Given the description of an element on the screen output the (x, y) to click on. 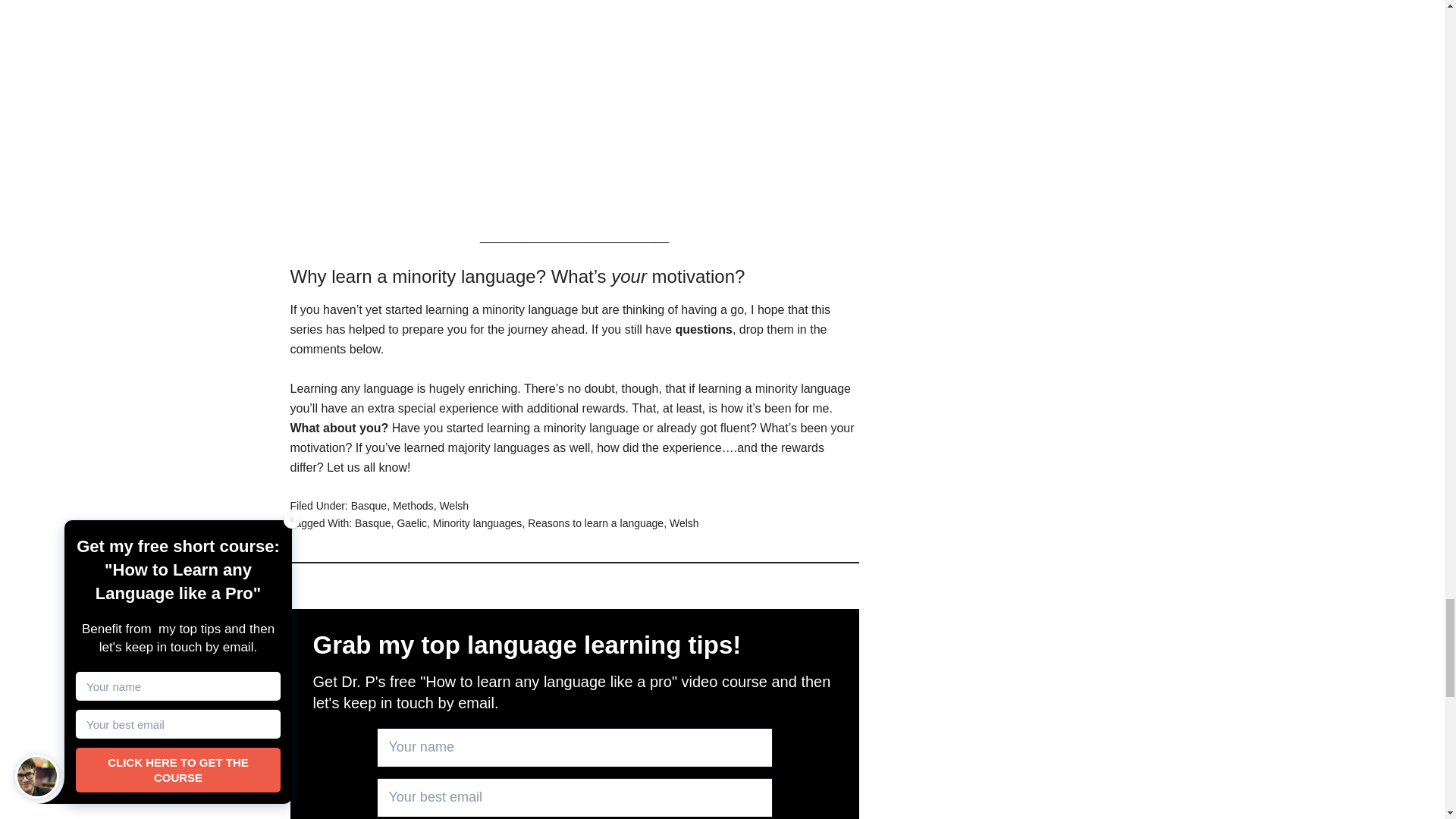
Basque (372, 522)
Basque (368, 505)
Welsh (683, 522)
Reasons to learn a language (595, 522)
Welsh (453, 505)
Gaelic (411, 522)
Methods (413, 505)
Minority languages (477, 522)
